Given the description of an element on the screen output the (x, y) to click on. 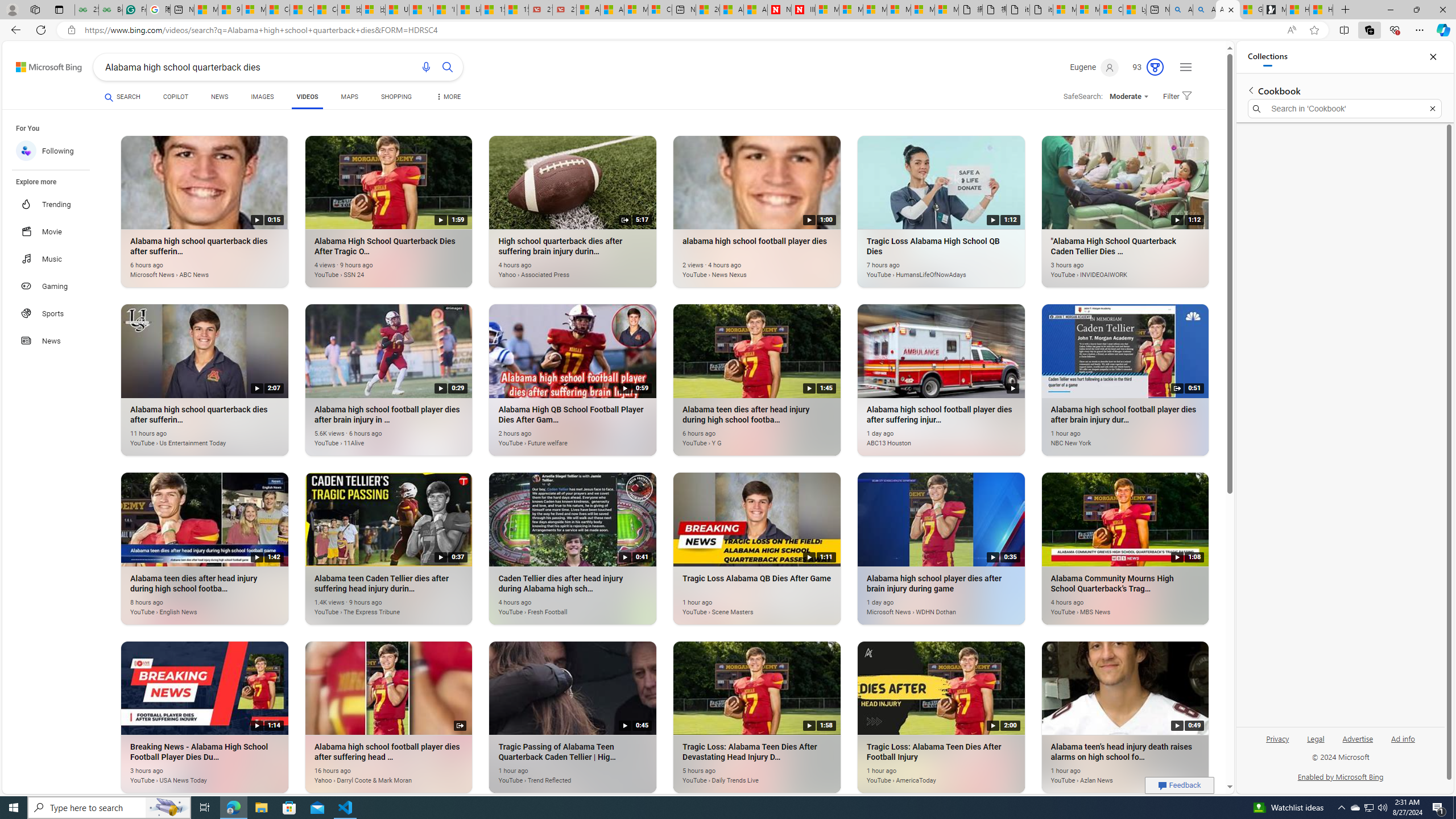
Movie (56, 231)
Search button (447, 66)
Back to list of collections (1250, 90)
Search in 'Cookbook' (1345, 108)
